Given the description of an element on the screen output the (x, y) to click on. 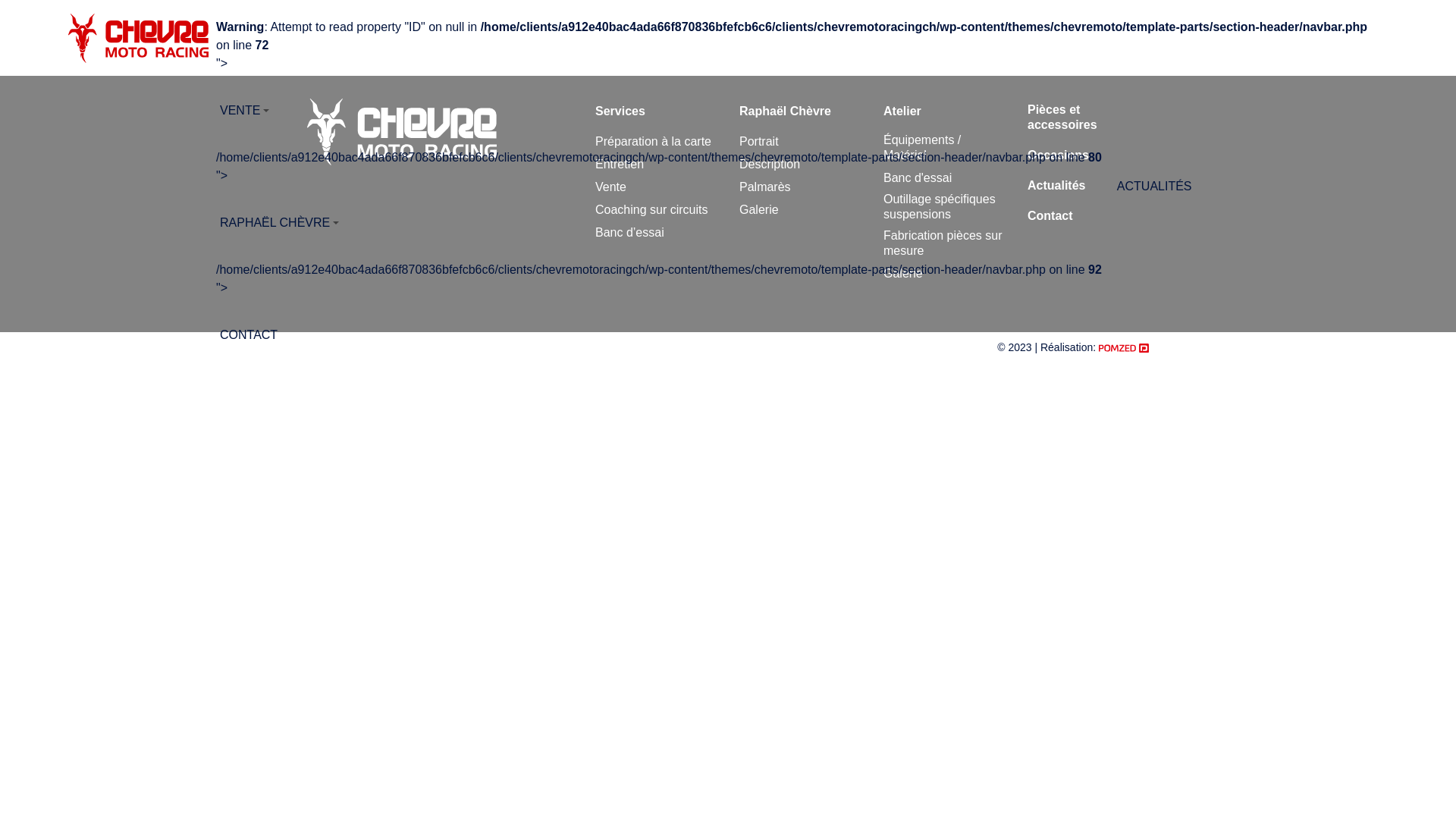
Coaching sur circuits Element type: text (651, 209)
Galerie Element type: text (902, 273)
Occasions Element type: text (1057, 155)
Portrait Element type: text (758, 141)
Description Element type: text (769, 164)
Galerie Element type: text (758, 209)
Entretien Element type: text (619, 164)
VENTE Element type: text (796, 110)
Services Element type: text (620, 111)
CONTACT Element type: text (658, 335)
Atelier Element type: text (902, 111)
Contact Element type: text (1050, 215)
Banc d'essai Element type: text (917, 177)
Vente Element type: text (610, 186)
